Given the description of an element on the screen output the (x, y) to click on. 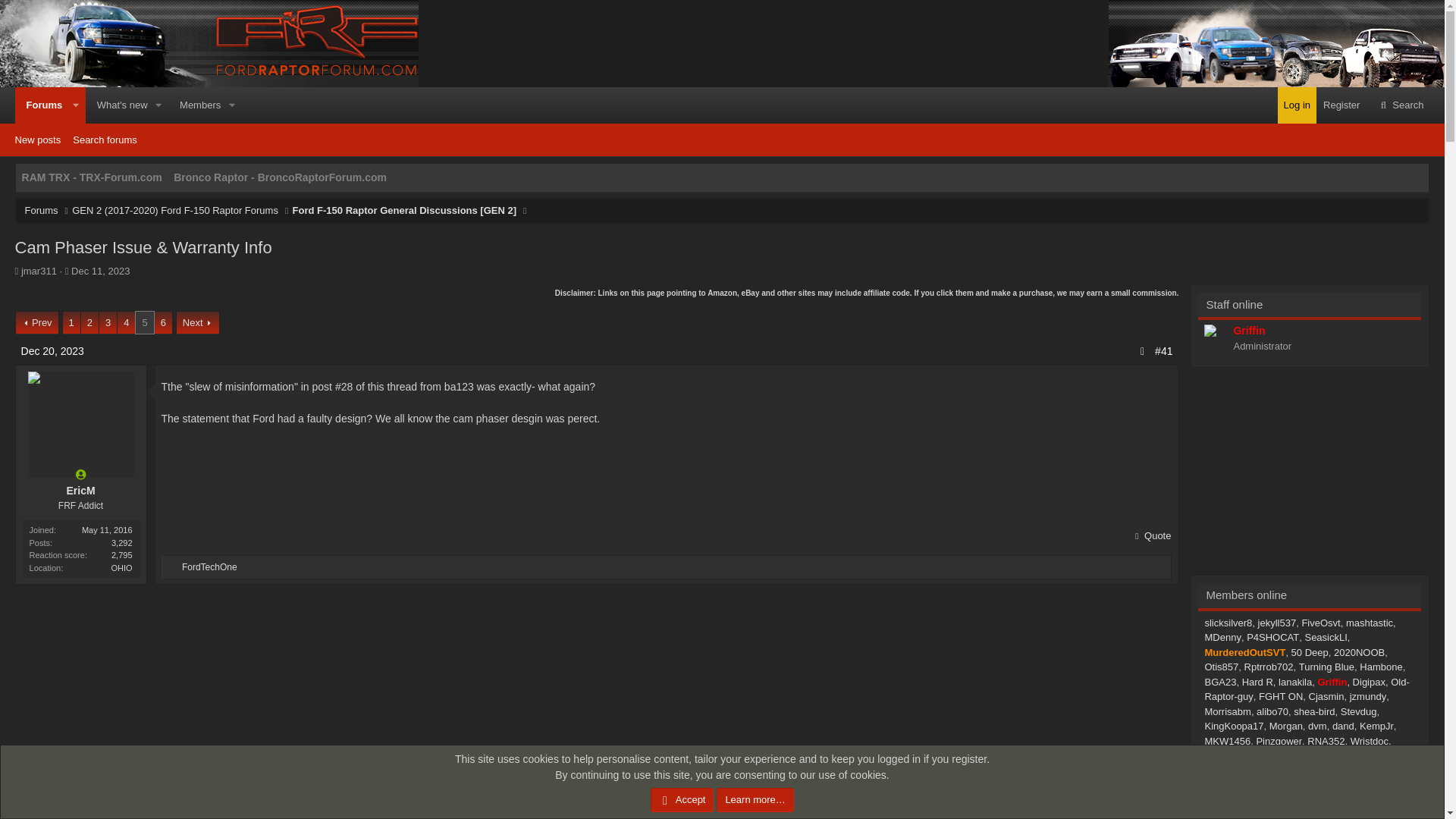
Bronco Raptor - BroncoRaptorForum.com (280, 177)
Forums (41, 210)
Search (1400, 104)
Facepalm (173, 567)
What's new (721, 140)
Log in (117, 104)
New posts (1297, 104)
Prev (37, 140)
Members (36, 322)
